Given the description of an element on the screen output the (x, y) to click on. 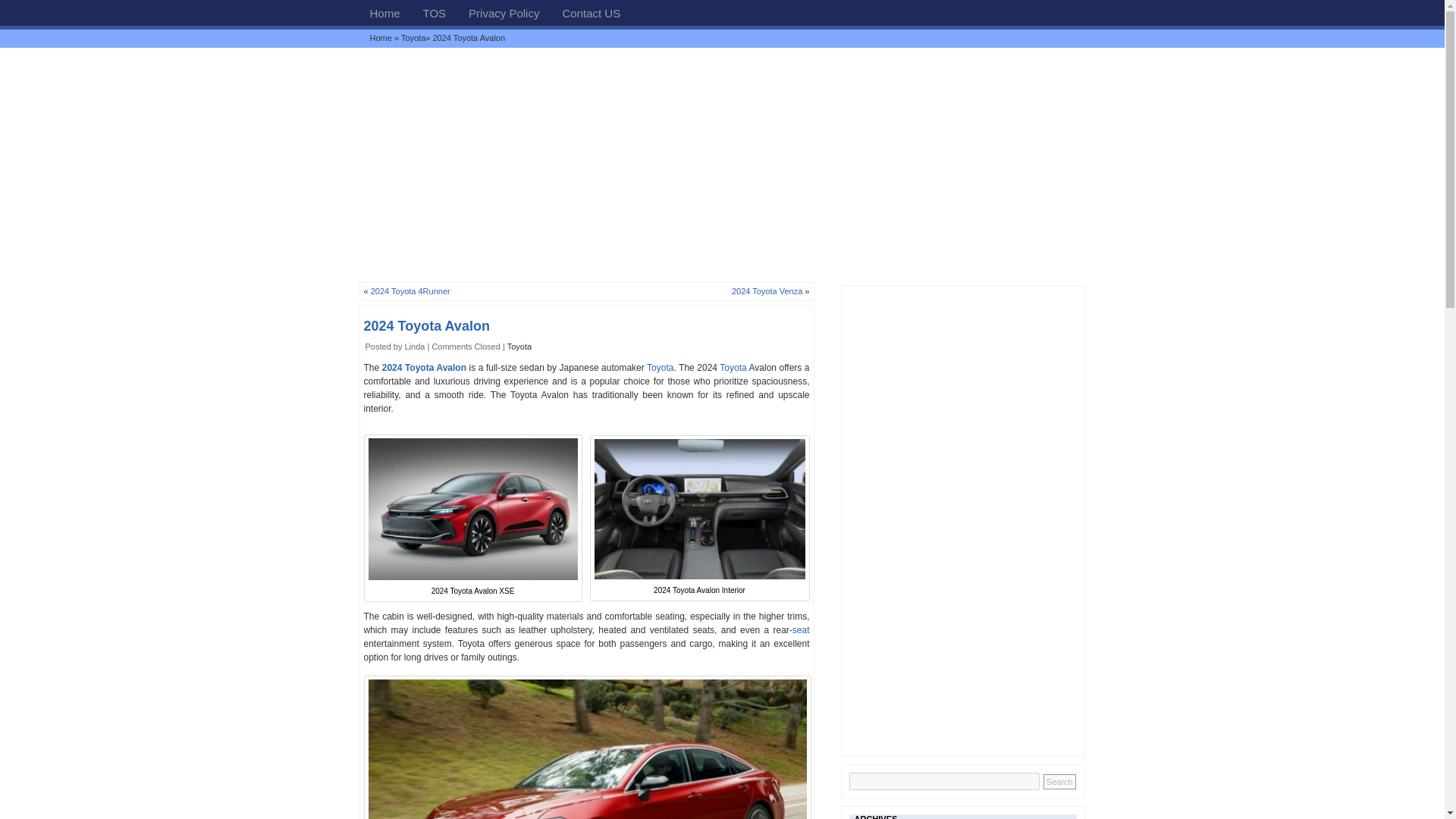
Toyota (659, 367)
seat (800, 629)
2024 Toyota Avalon (426, 325)
TOS (435, 12)
2024 Toyota 4Runner (410, 290)
Home (380, 37)
2024 Toyota Avalon (423, 367)
Privacy Policy (503, 12)
Toyota (732, 367)
GTOPCARS.COM (384, 12)
Toyota (518, 346)
2024 Toyota Venza (767, 290)
Toyota (659, 367)
Search (1059, 781)
